Given the description of an element on the screen output the (x, y) to click on. 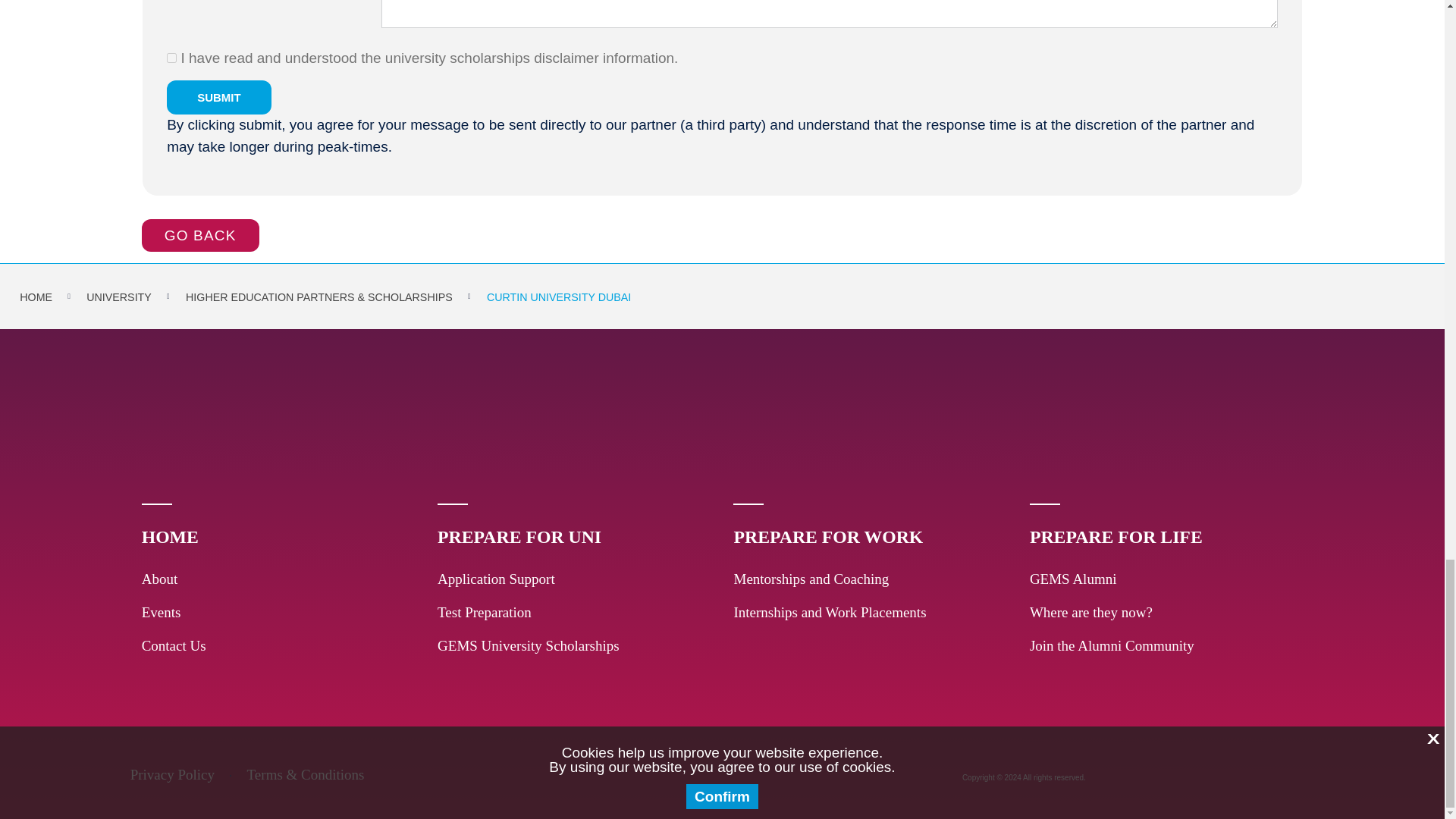
Submit (218, 97)
GO BACK (200, 235)
UNIVERSITY (118, 297)
true (171, 58)
Submit (218, 97)
university scholarships disclaimer information (529, 57)
HOME (36, 297)
CURTIN UNIVERSITY DUBAI (558, 297)
